Given the description of an element on the screen output the (x, y) to click on. 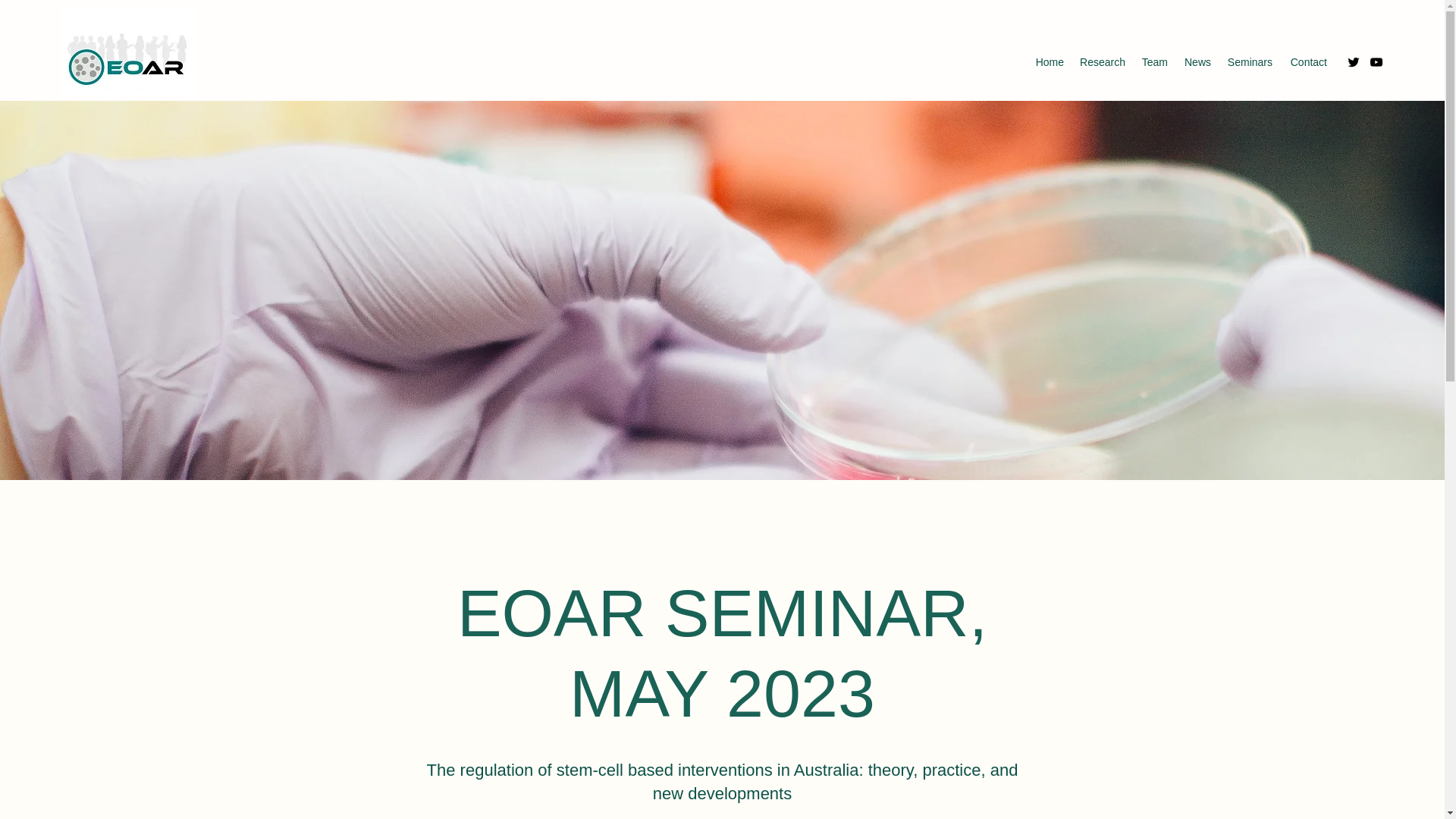
Home (1048, 61)
Team (1153, 61)
Seminars (1248, 61)
News (1196, 61)
Research (1101, 61)
Contact (1307, 61)
